Given the description of an element on the screen output the (x, y) to click on. 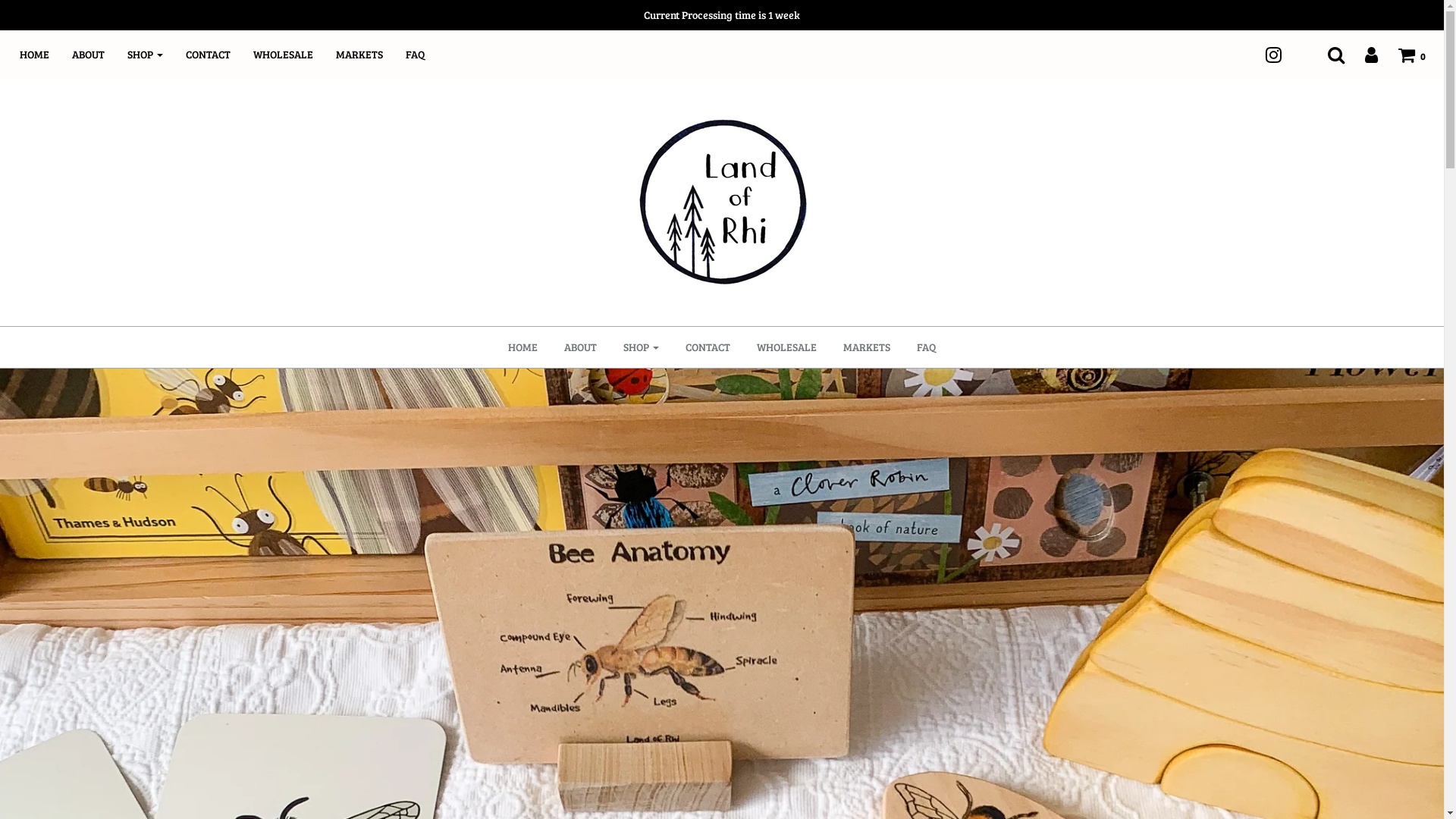
0 Element type: text (1401, 54)
HOME Element type: text (45, 54)
WHOLESALE Element type: text (294, 54)
ABOUT Element type: text (580, 347)
FAQ Element type: text (426, 54)
Log in Element type: hover (1361, 54)
HOME Element type: text (522, 347)
WHOLESALE Element type: text (786, 347)
SHOP Element type: text (156, 54)
MARKETS Element type: text (866, 347)
SHOP Element type: text (640, 347)
CONTACT Element type: text (707, 347)
FAQ Element type: text (926, 347)
CONTACT Element type: text (219, 54)
ABOUT Element type: text (99, 54)
MARKETS Element type: text (370, 54)
Search Element type: hover (1326, 54)
